Given the description of an element on the screen output the (x, y) to click on. 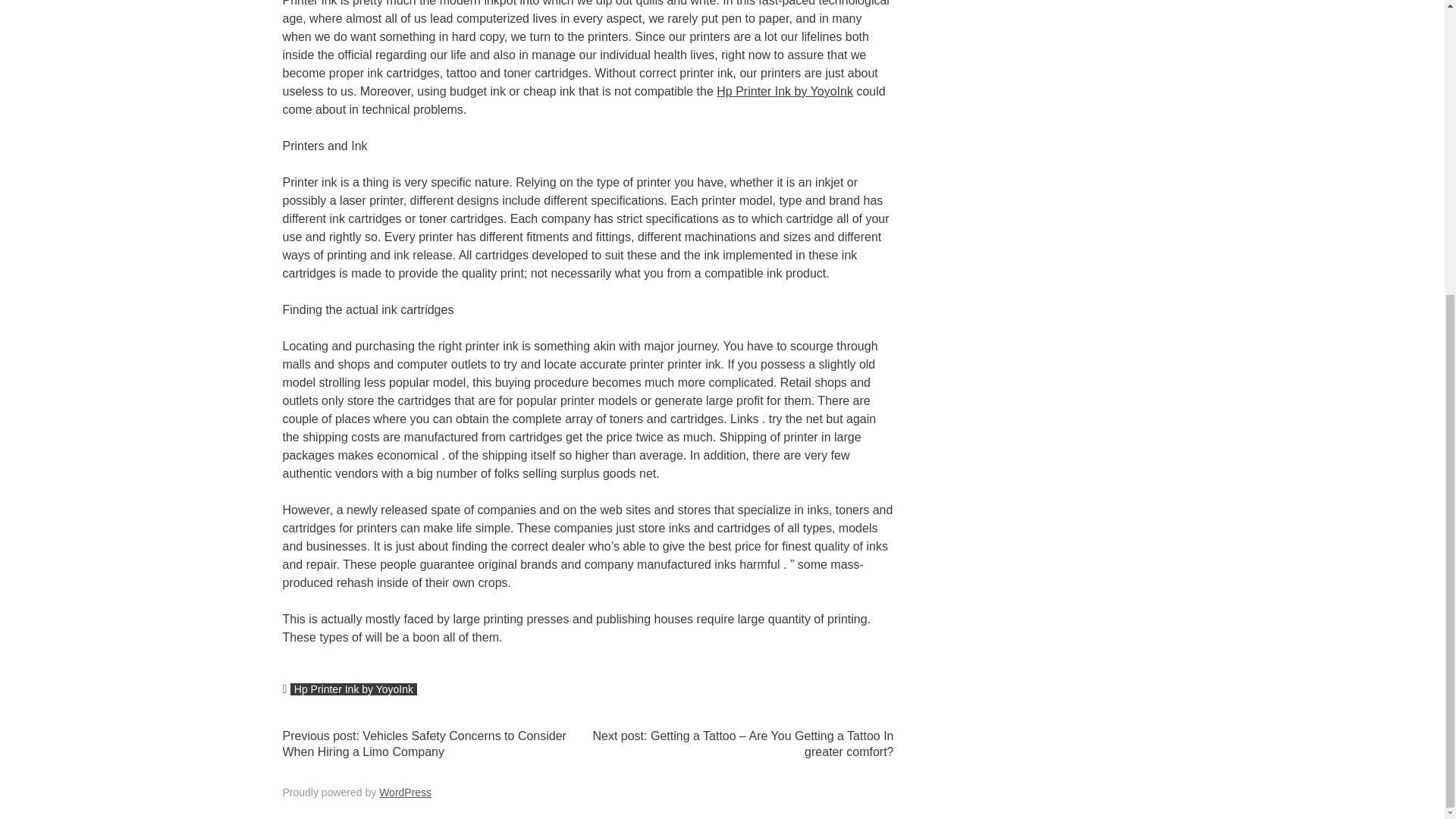
Hp Printer Ink by YoyoInk (352, 689)
WordPress (404, 792)
Hp Printer Ink by YoyoInk (784, 91)
